Given the description of an element on the screen output the (x, y) to click on. 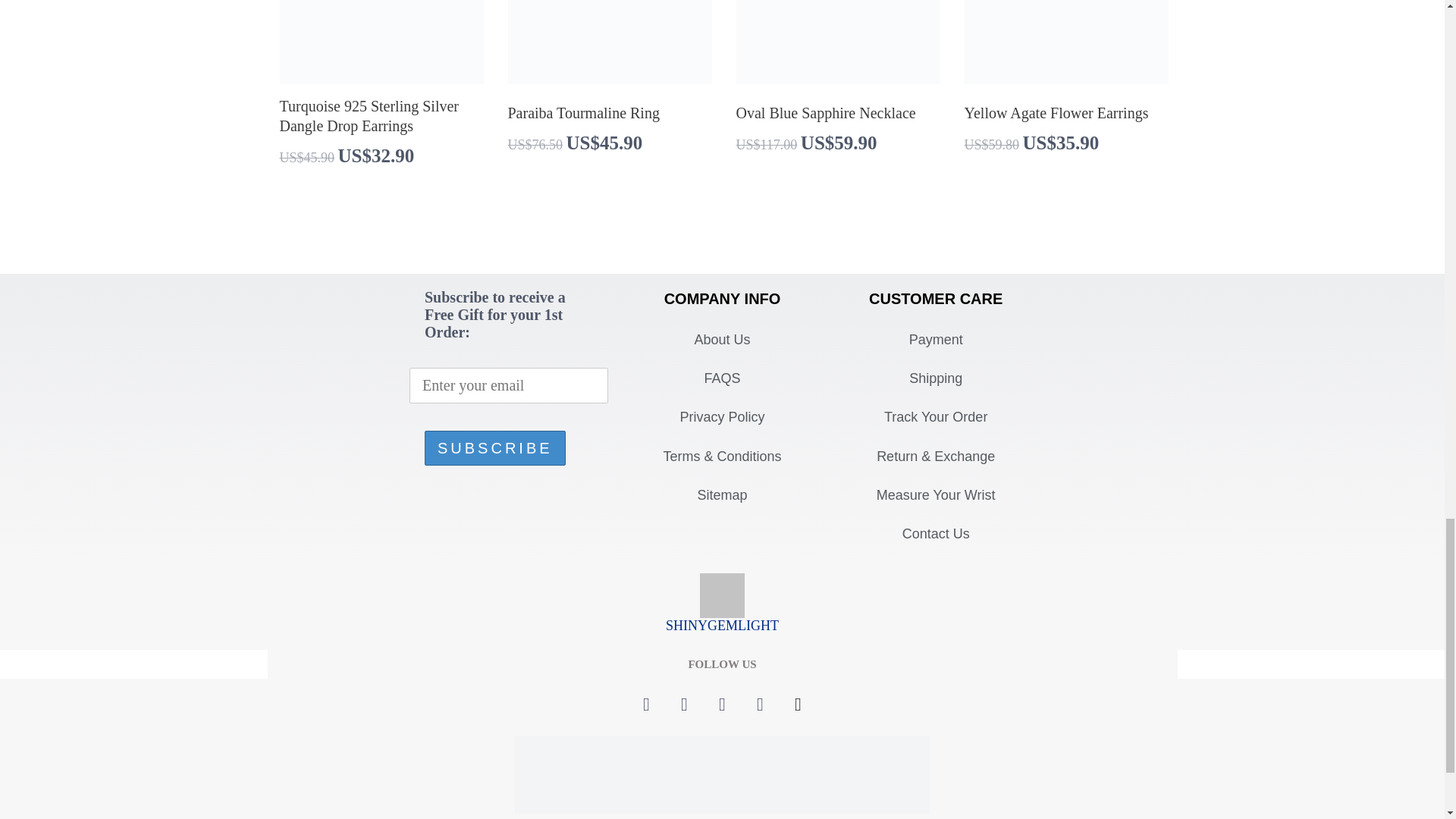
Subscribe (495, 448)
